Given the description of an element on the screen output the (x, y) to click on. 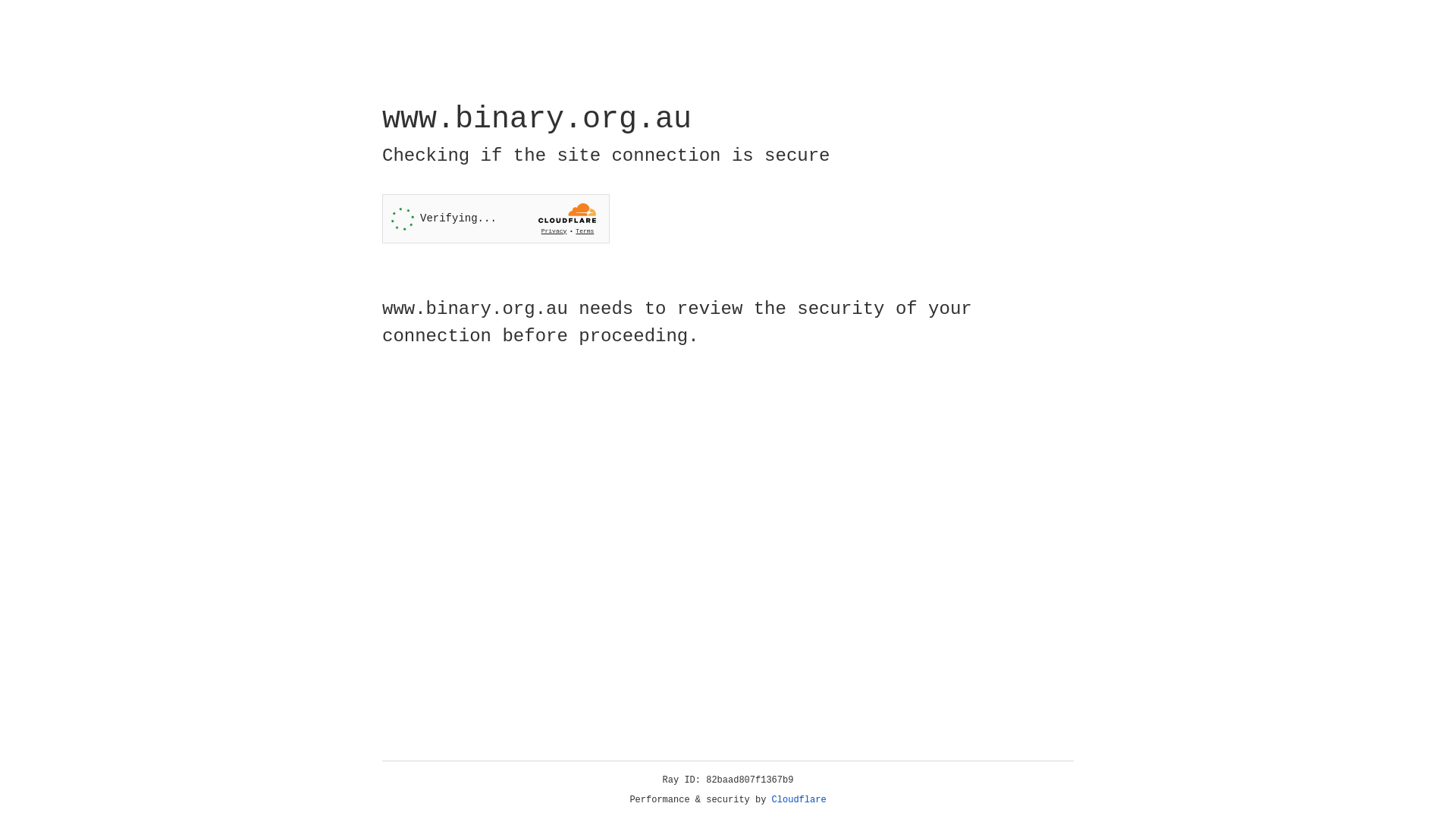
Cloudflare Element type: text (798, 799)
Widget containing a Cloudflare security challenge Element type: hover (495, 218)
